Given the description of an element on the screen output the (x, y) to click on. 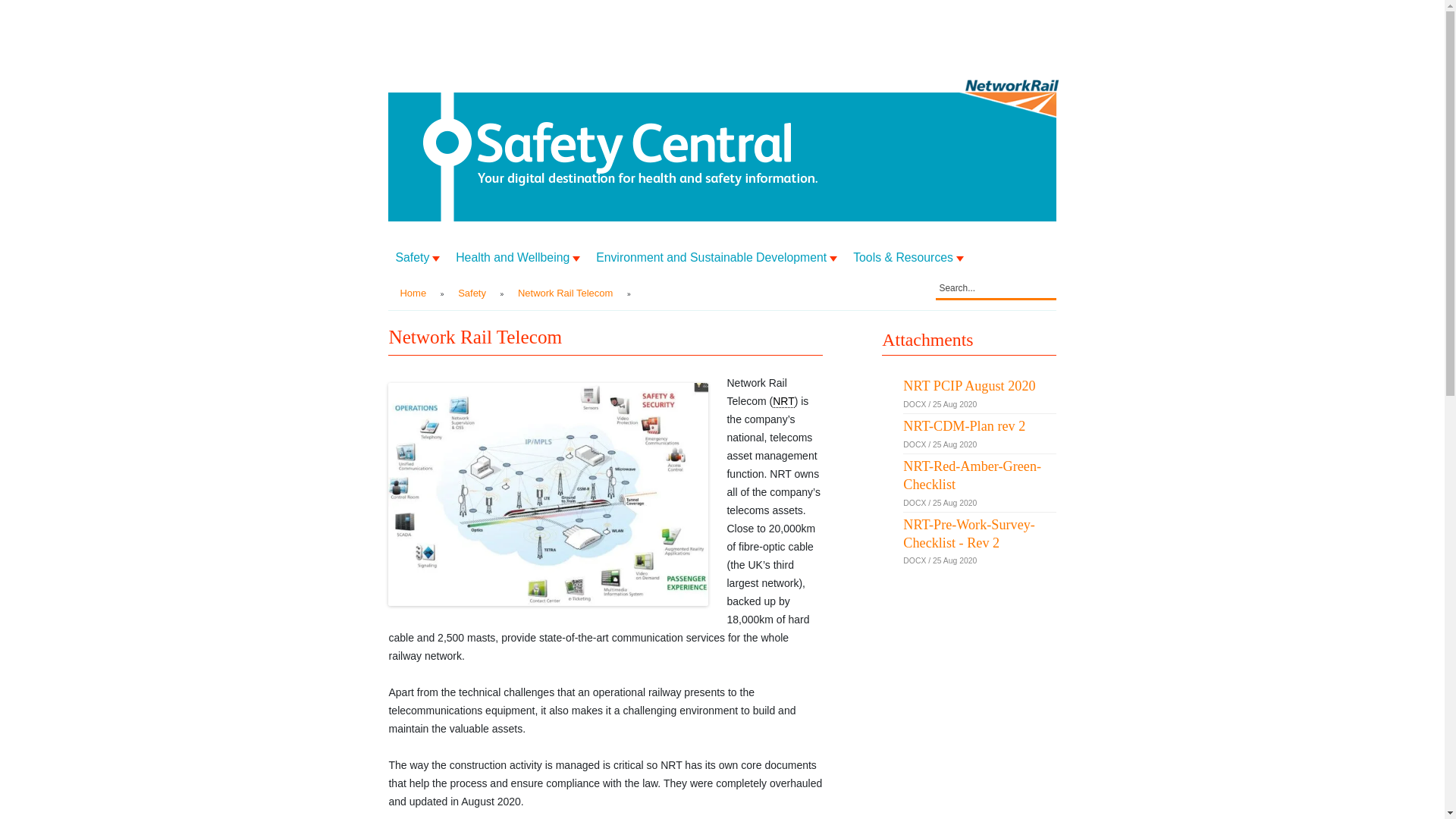
Skip to content (423, 247)
Safety (416, 258)
Safety Central (634, 156)
Skip to content (423, 247)
Home (412, 292)
Safety (471, 292)
Network Rail Telecom (565, 292)
